Given the description of an element on the screen output the (x, y) to click on. 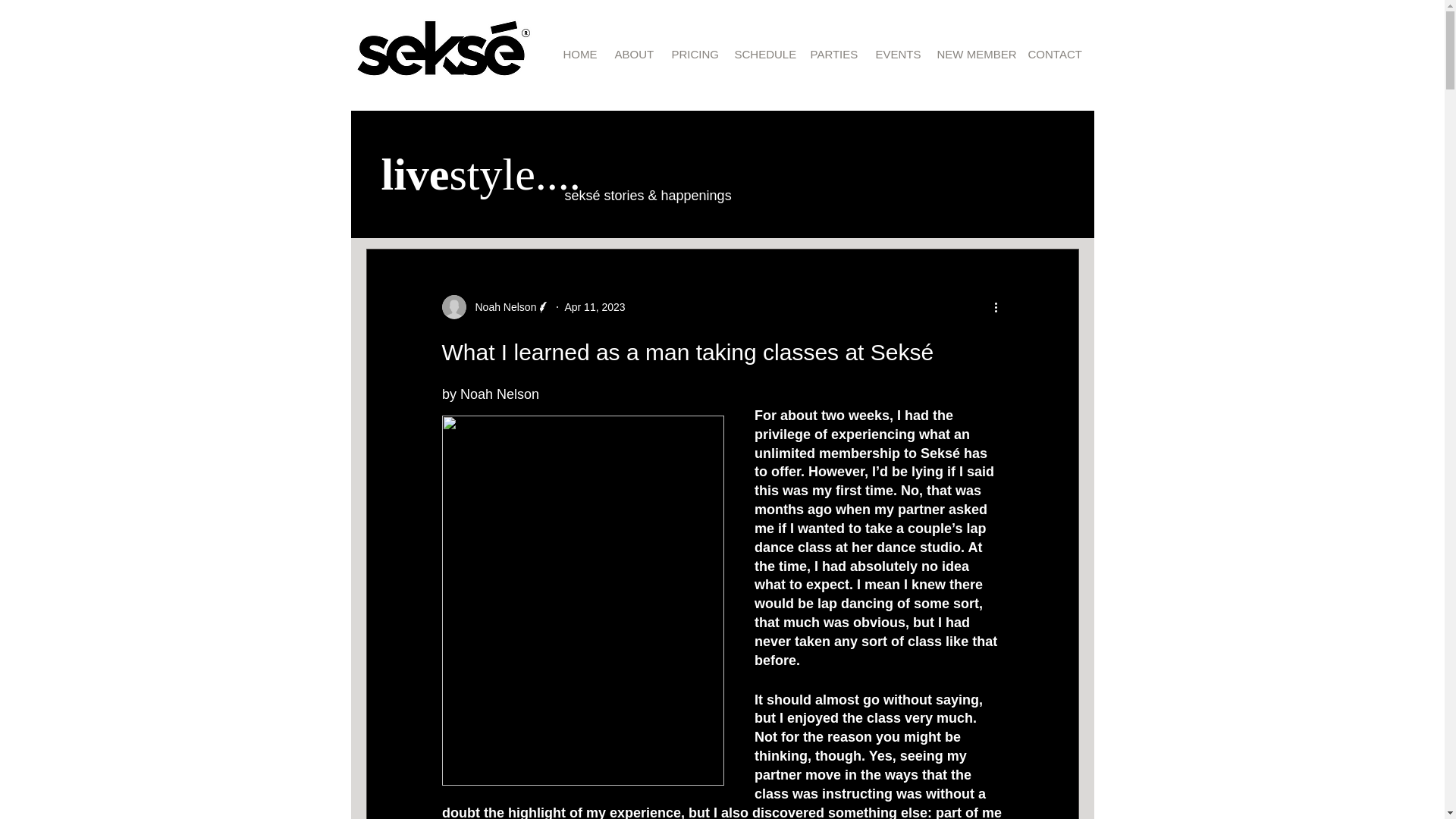
PRICING (690, 54)
Noah Nelson (500, 306)
CONTACT (1049, 54)
EVENTS (895, 54)
HOME (577, 54)
SCHEDULE (761, 54)
ABOUT (632, 54)
NEW MEMBER (970, 54)
PARTIES (831, 54)
Apr 11, 2023 (594, 306)
Noah Nelson (495, 306)
